Given the description of an element on the screen output the (x, y) to click on. 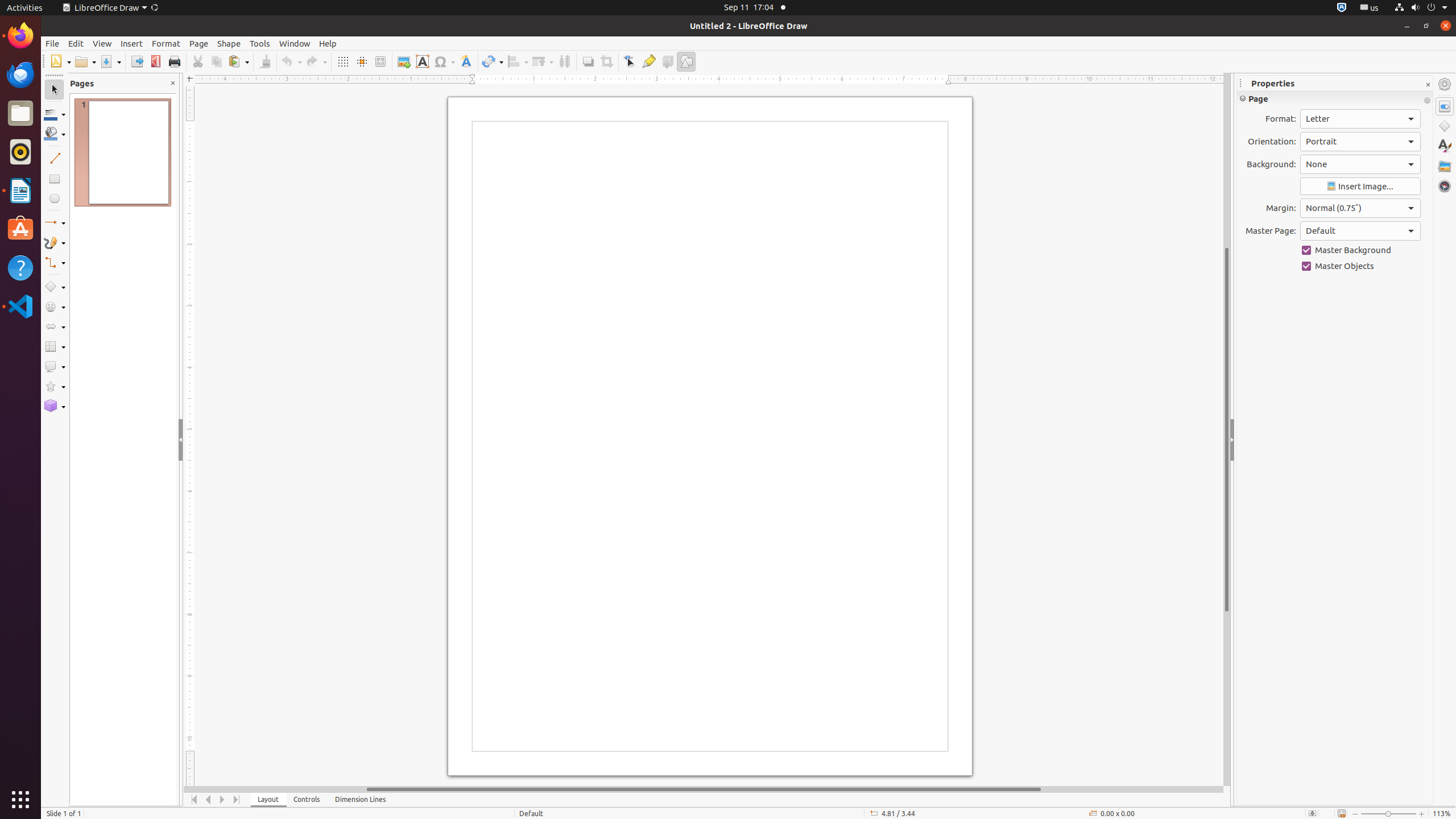
Transformations Element type: push-button (492, 61)
Paste Element type: push-button (237, 61)
Dimension Lines Element type: page-tab (360, 799)
